Given the description of an element on the screen output the (x, y) to click on. 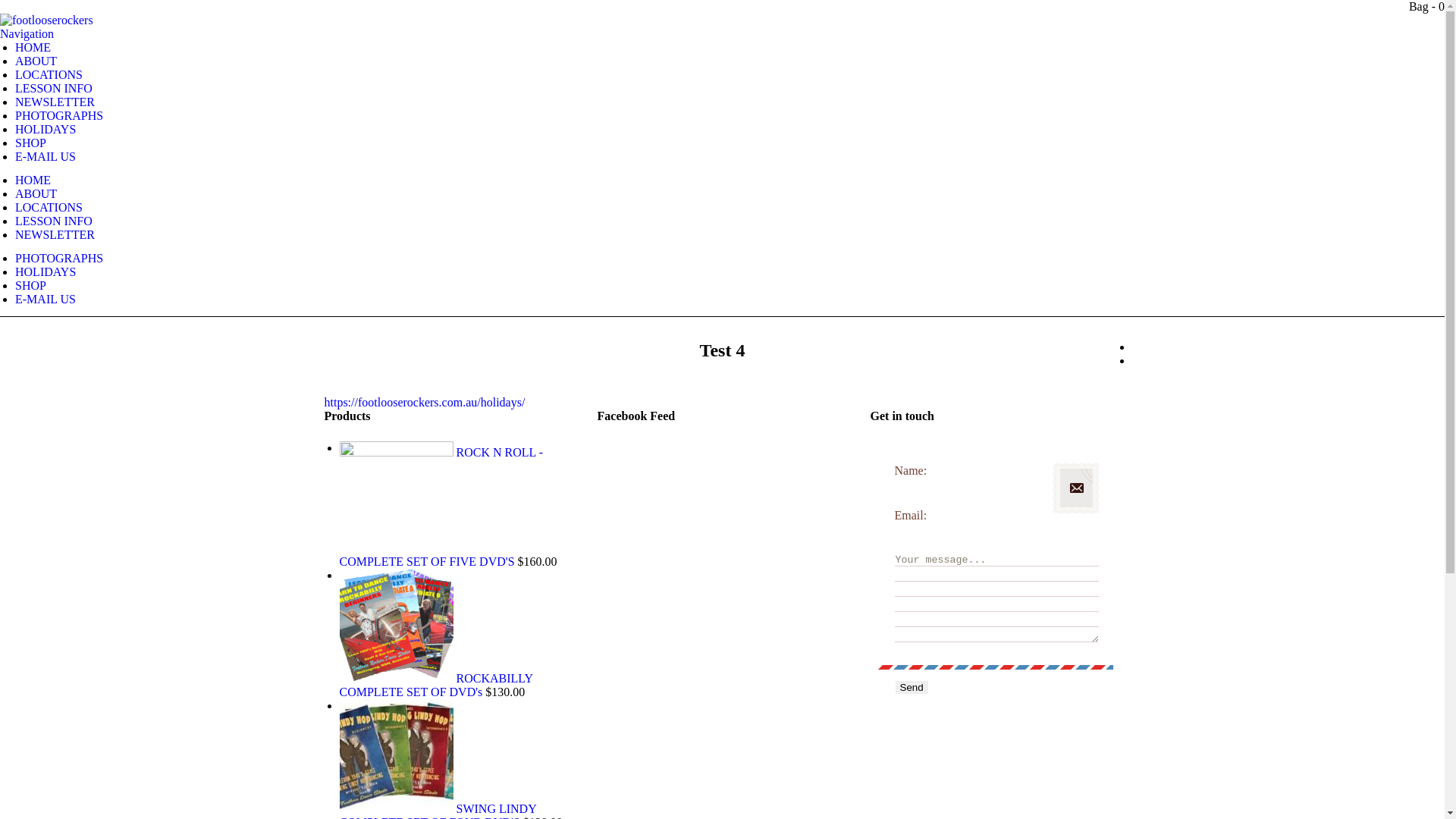
ROCKABILLY COMPLETE SET OF DVD's Element type: text (436, 684)
SHOP Element type: text (30, 285)
LOCATIONS Element type: text (48, 206)
ABOUT Element type: text (35, 193)
SHOP Element type: text (30, 142)
Send Element type: text (910, 686)
ABOUT Element type: text (35, 60)
HOME Element type: text (32, 179)
https://footlooserockers.com.au/holidays/ Element type: text (424, 401)
NEWSLETTER Element type: text (54, 234)
ROCK N ROLL - COMPLETE SET OF FIVE DVD'S Element type: text (441, 506)
HOLIDAYS Element type: text (45, 128)
LESSON INFO Element type: text (53, 87)
LESSON INFO Element type: text (53, 220)
E-MAIL US Element type: text (45, 298)
E-MAIL US Element type: text (45, 156)
HOLIDAYS Element type: text (45, 271)
LOCATIONS Element type: text (48, 74)
PHOTOGRAPHS Element type: text (59, 257)
PHOTOGRAPHS Element type: text (59, 115)
HOME Element type: text (32, 46)
NEWSLETTER Element type: text (54, 101)
Navigation Element type: text (26, 33)
